Given the description of an element on the screen output the (x, y) to click on. 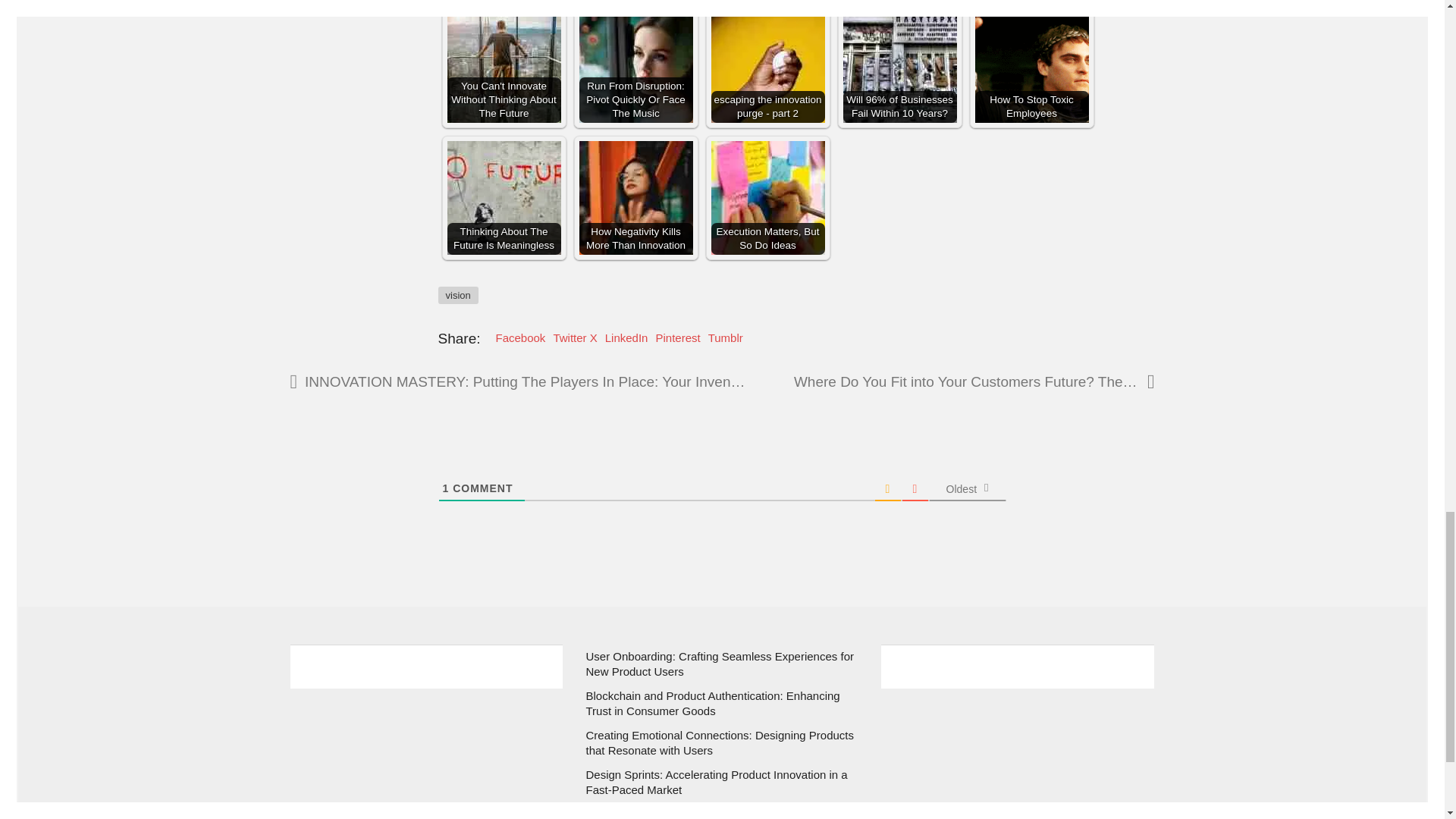
How To Stop Toxic Employees (1032, 65)
Execution Matters, But So Do Ideas (768, 197)
Thinking About The Future Is Meaningless (503, 197)
escaping the innovation purge - part 2 (768, 65)
Form 1 (425, 752)
How Negativity Kills More Than Innovation (636, 197)
Form 2 (1017, 752)
You Can't Innovate Without Thinking About The Future (503, 65)
Run From Disruption: Pivot Quickly Or Face The Music (636, 65)
